Given the description of an element on the screen output the (x, y) to click on. 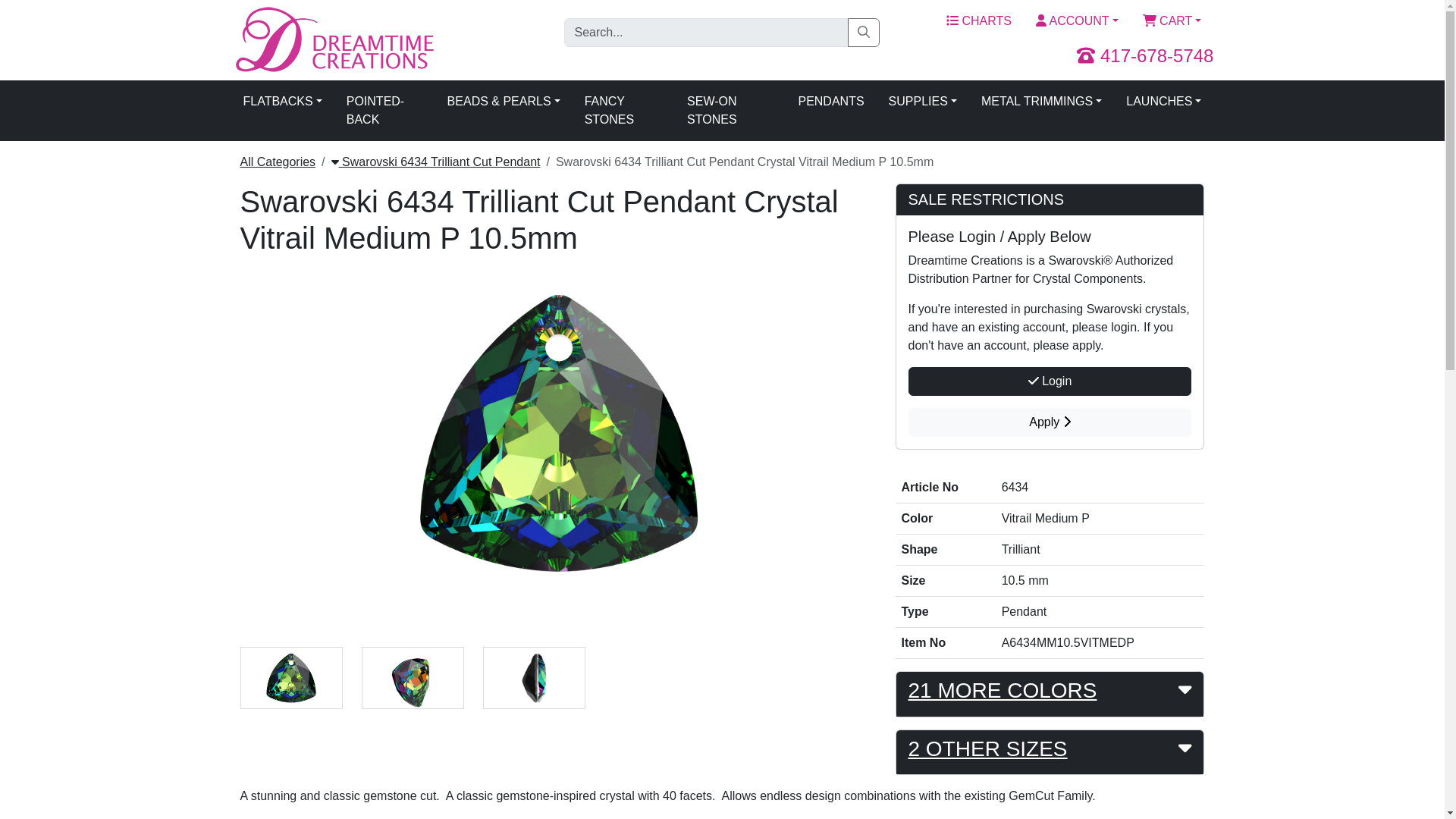
SUPPLIES (922, 101)
Swarovski 6434 Trilliant Cut Pendant (435, 161)
ACCOUNT (1077, 20)
FLATBACKS (281, 101)
POINTED-BACK (384, 110)
FANCY STONES (623, 110)
PENDANTS (831, 101)
Dreamtime Creations (332, 38)
All Categories (277, 161)
LAUNCHES (1162, 101)
SEW-ON STONES (730, 110)
CART (1172, 20)
METAL TRIMMINGS (1041, 101)
CHARTS (978, 20)
